Given the description of an element on the screen output the (x, y) to click on. 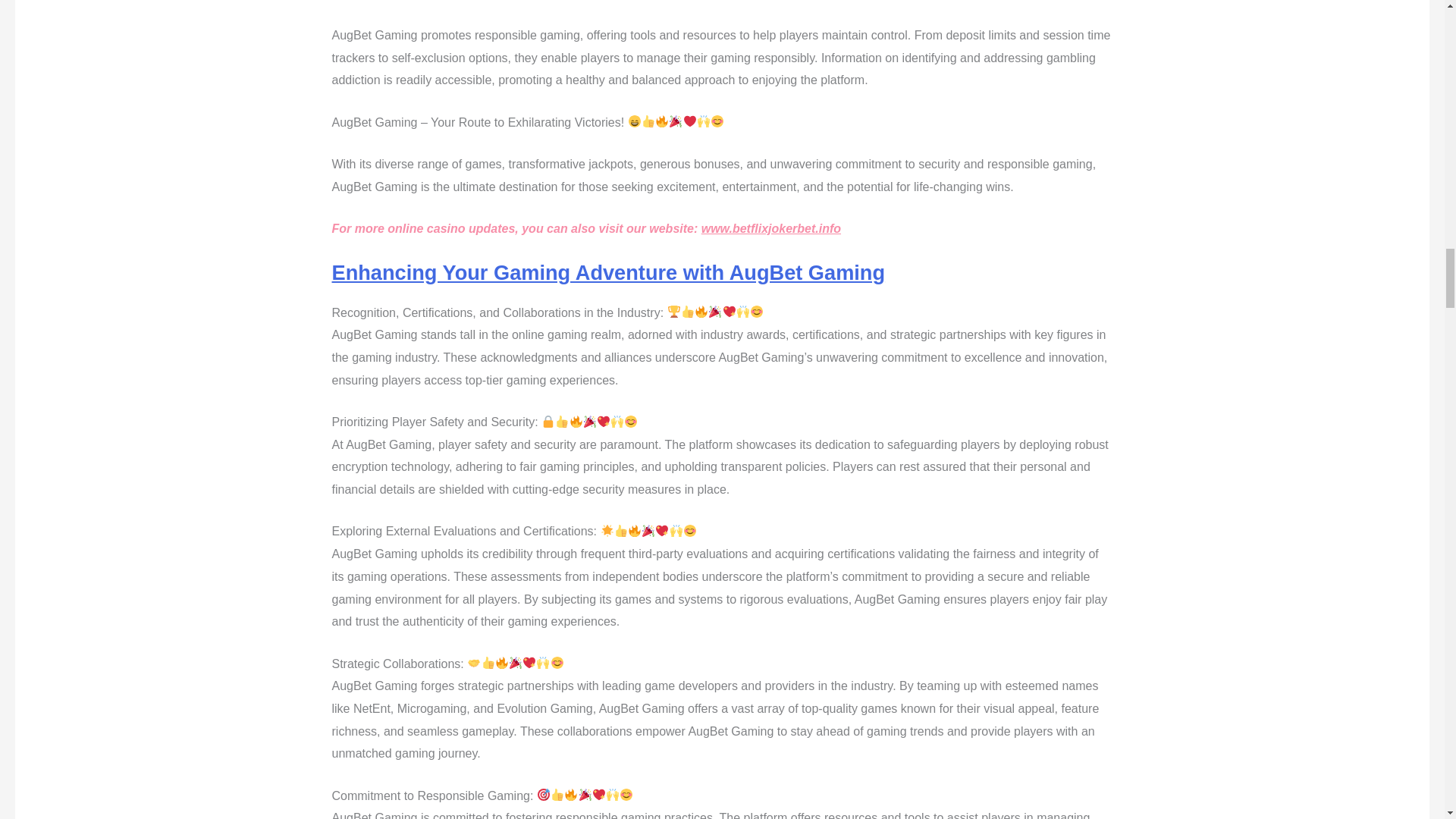
www.betflixjokerbet.info (771, 228)
Enhancing Your Gaming Adventure with AugBet Gaming (608, 272)
